Given the description of an element on the screen output the (x, y) to click on. 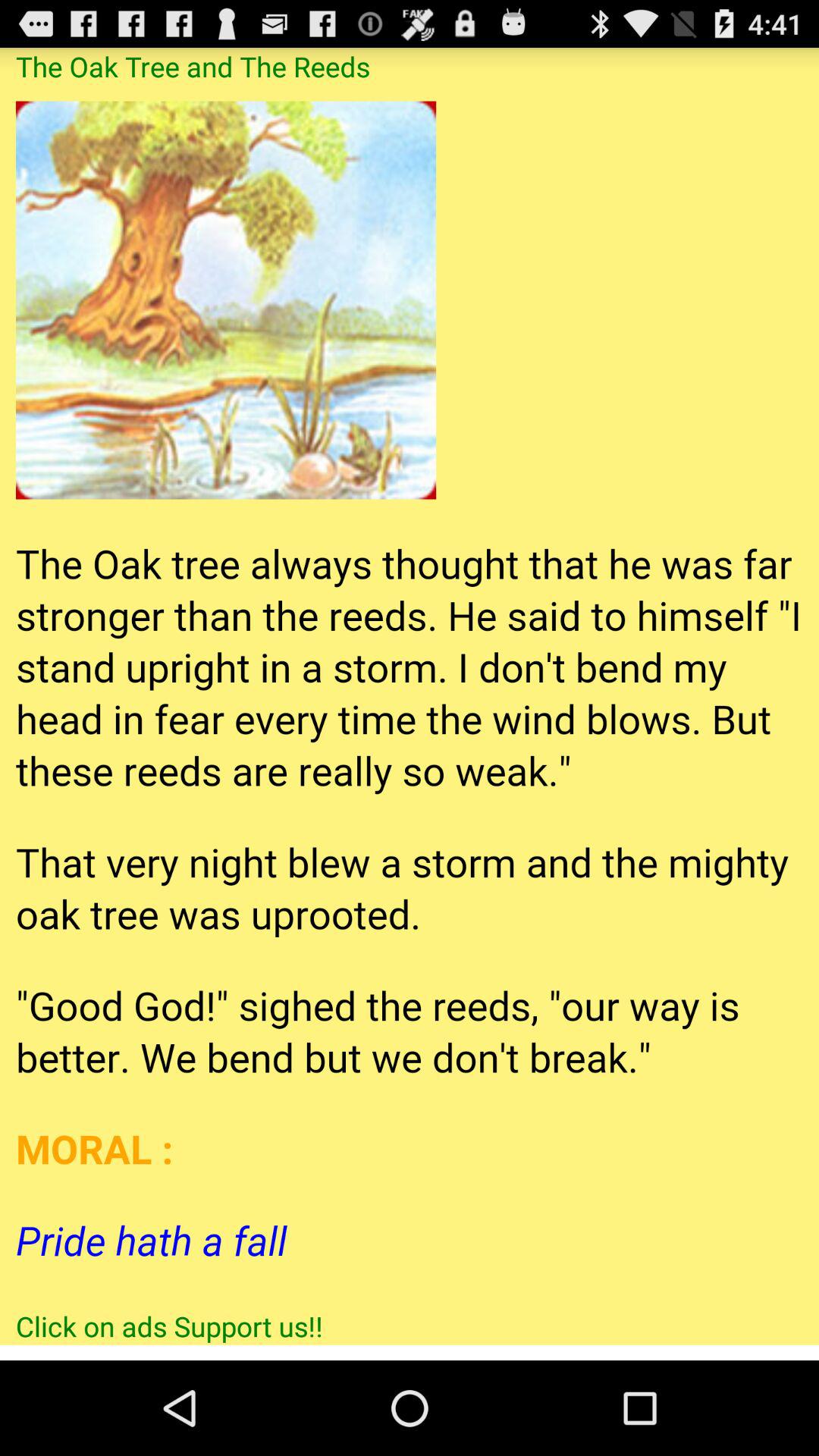
select the entire article (409, 696)
